Given the description of an element on the screen output the (x, y) to click on. 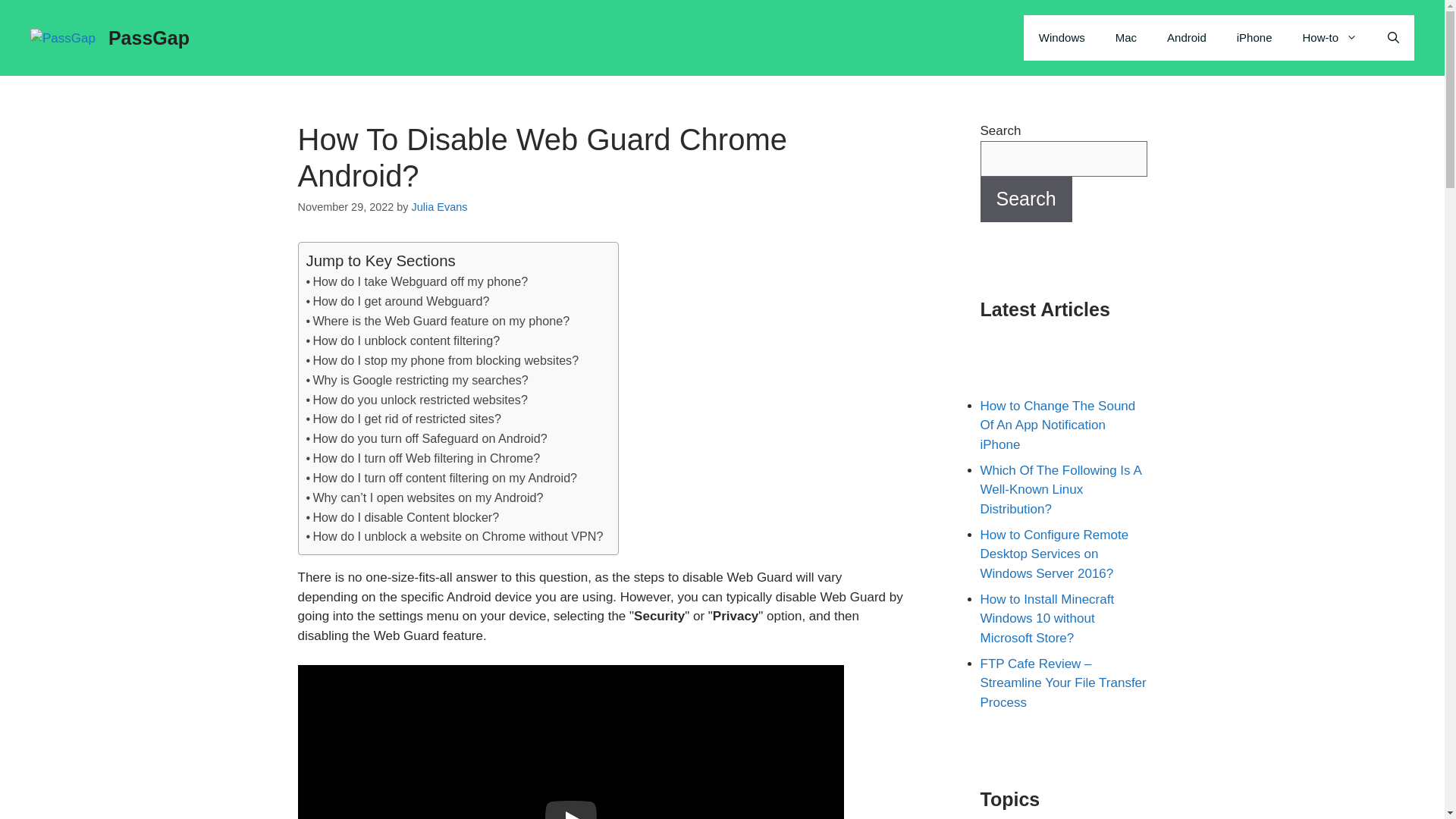
How do I turn off Web filtering in Chrome? (426, 458)
How do I get around Webguard? (401, 300)
How do I stop my phone from blocking websites? (445, 359)
PassGap (63, 38)
How do I unblock content filtering? (406, 340)
How do I take Webguard off my phone? (420, 281)
How do I get rid of restricted sites? (406, 418)
How-to (1330, 37)
How do I turn off Web filtering in Chrome? (426, 458)
How do you unlock restricted websites? (420, 399)
